Given the description of an element on the screen output the (x, y) to click on. 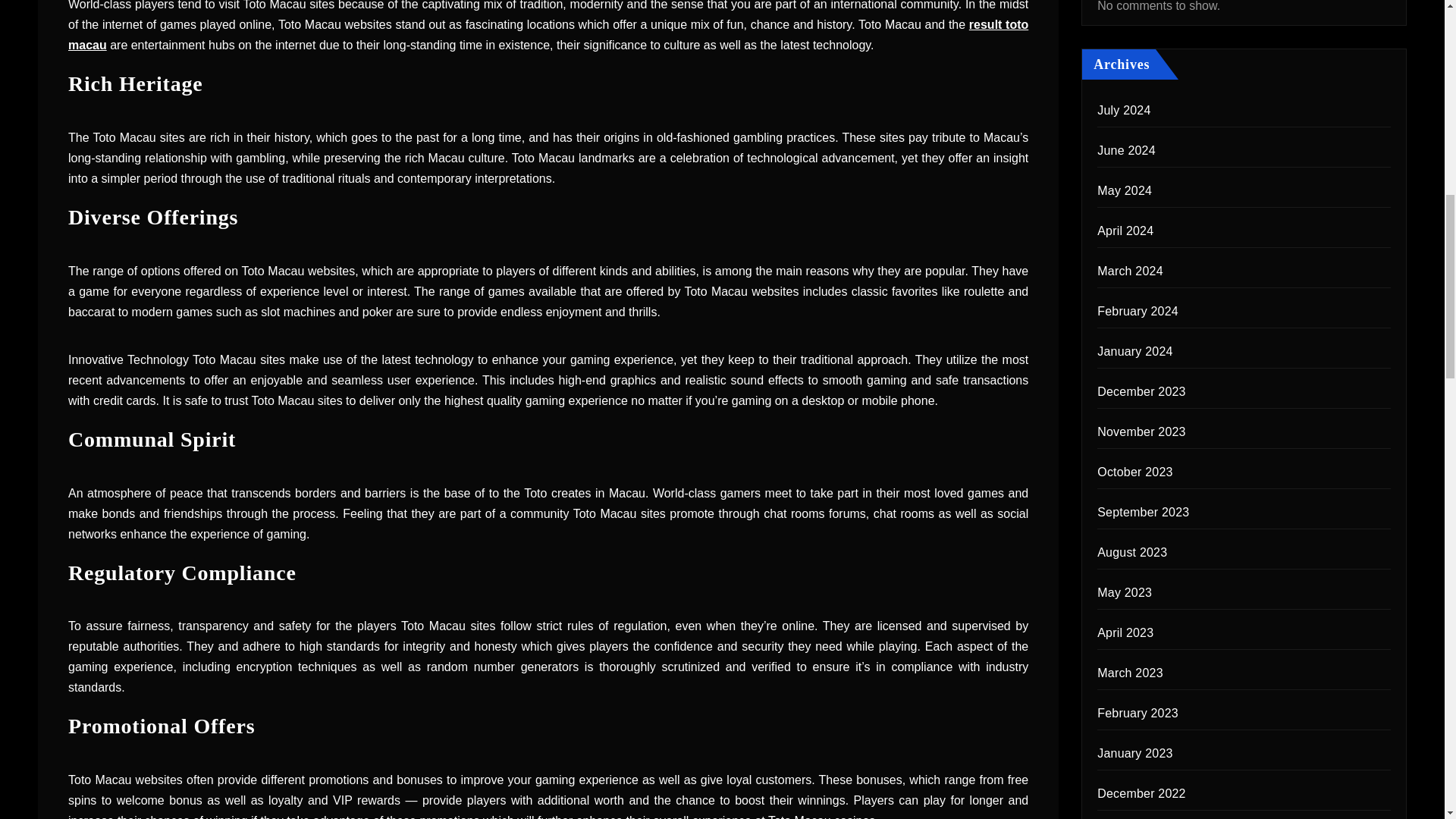
result toto macau (547, 34)
